Given the description of an element on the screen output the (x, y) to click on. 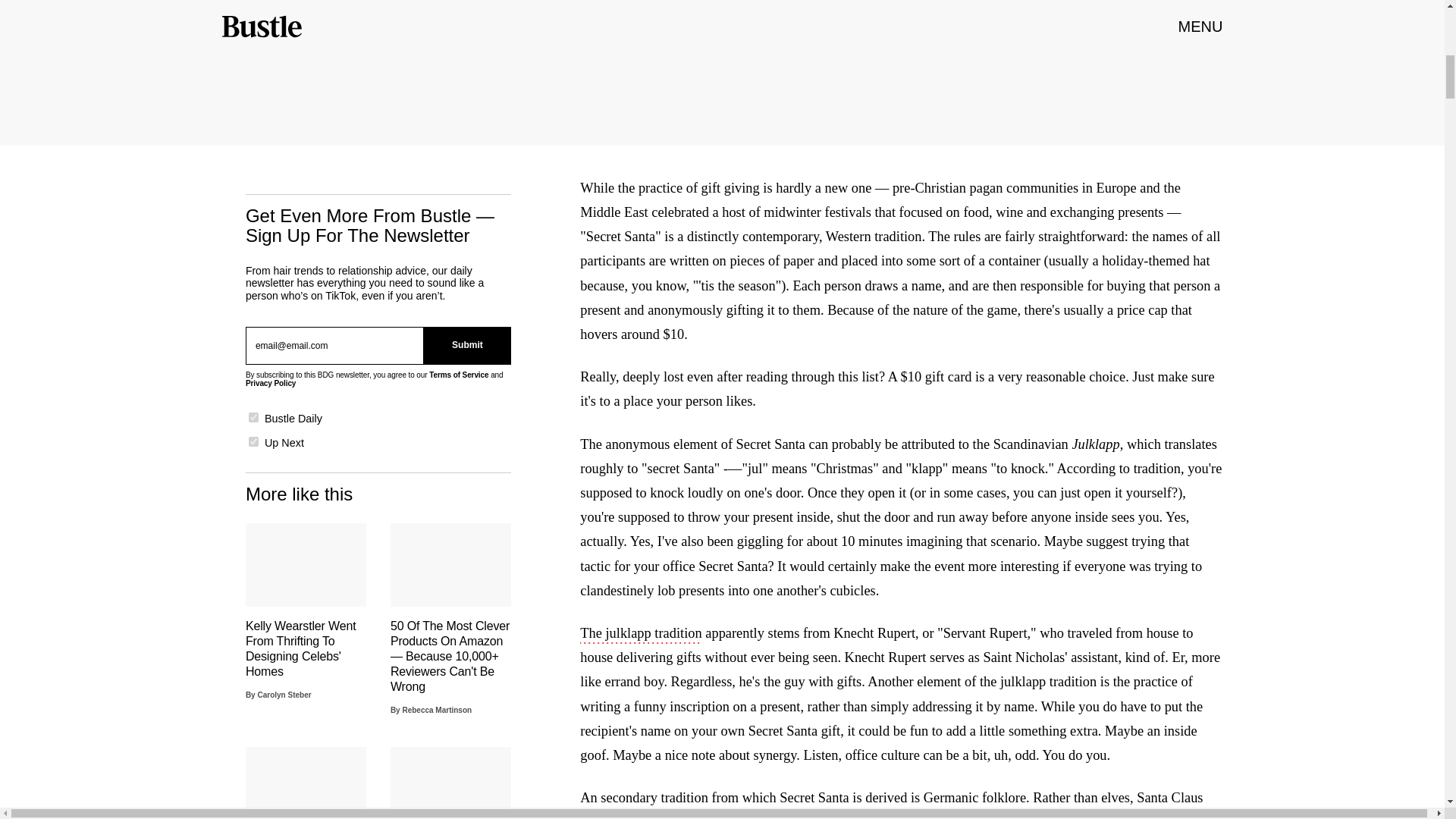
The julklapp tradition (640, 634)
